Given the description of an element on the screen output the (x, y) to click on. 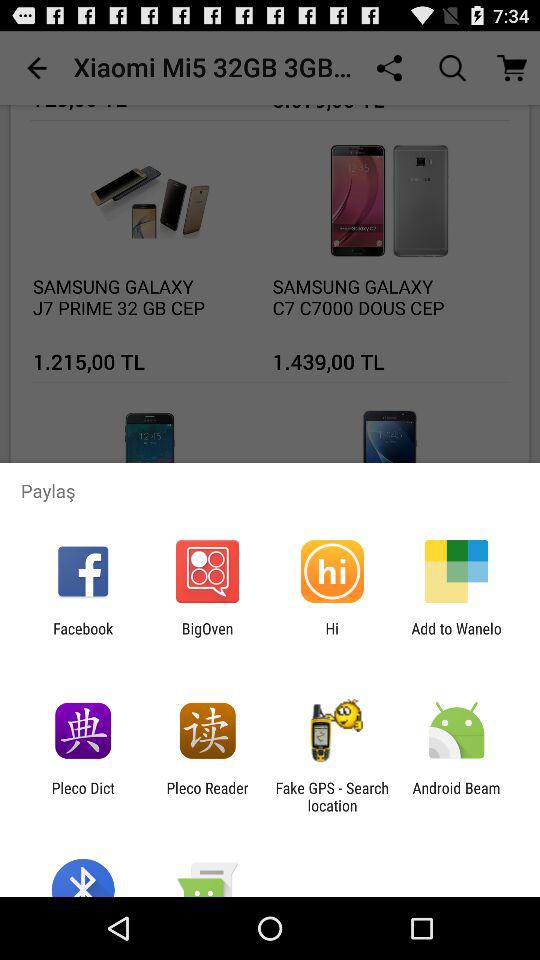
open app to the right of pleco dict item (207, 796)
